Given the description of an element on the screen output the (x, y) to click on. 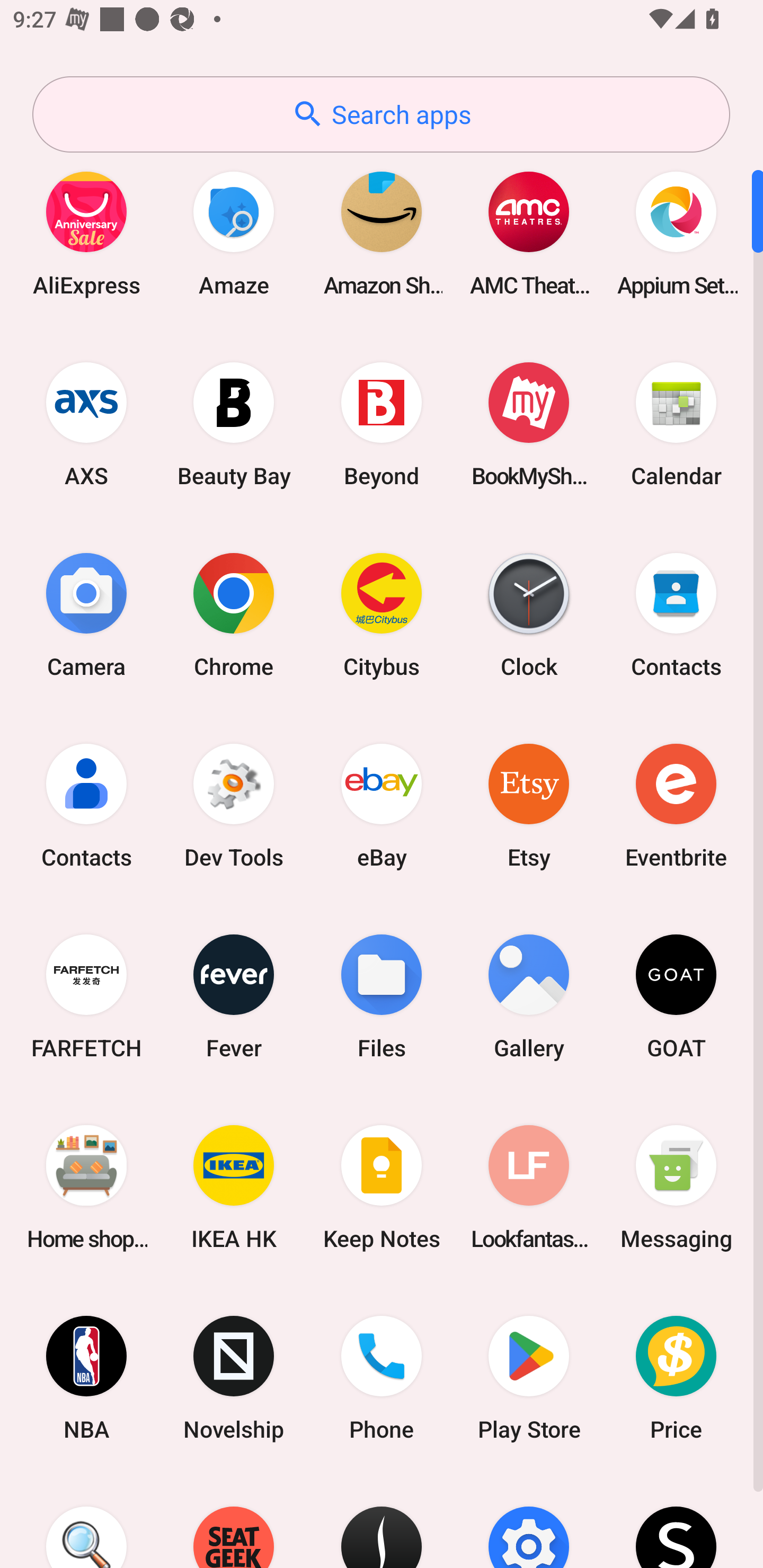
  Search apps (381, 114)
AliExpress (86, 233)
Amaze (233, 233)
Amazon Shopping (381, 233)
AMC Theatres (528, 233)
Appium Settings (676, 233)
AXS (86, 424)
Beauty Bay (233, 424)
Beyond (381, 424)
BookMyShow (528, 424)
Calendar (676, 424)
Camera (86, 614)
Chrome (233, 614)
Citybus (381, 614)
Clock (528, 614)
Contacts (676, 614)
Contacts (86, 805)
Dev Tools (233, 805)
eBay (381, 805)
Etsy (528, 805)
Eventbrite (676, 805)
FARFETCH (86, 996)
Fever (233, 996)
Files (381, 996)
Gallery (528, 996)
GOAT (676, 996)
Home shopping (86, 1186)
IKEA HK (233, 1186)
Keep Notes (381, 1186)
Lookfantastic (528, 1186)
Messaging (676, 1186)
NBA (86, 1377)
Novelship (233, 1377)
Phone (381, 1377)
Play Store (528, 1377)
Price (676, 1377)
